Given the description of an element on the screen output the (x, y) to click on. 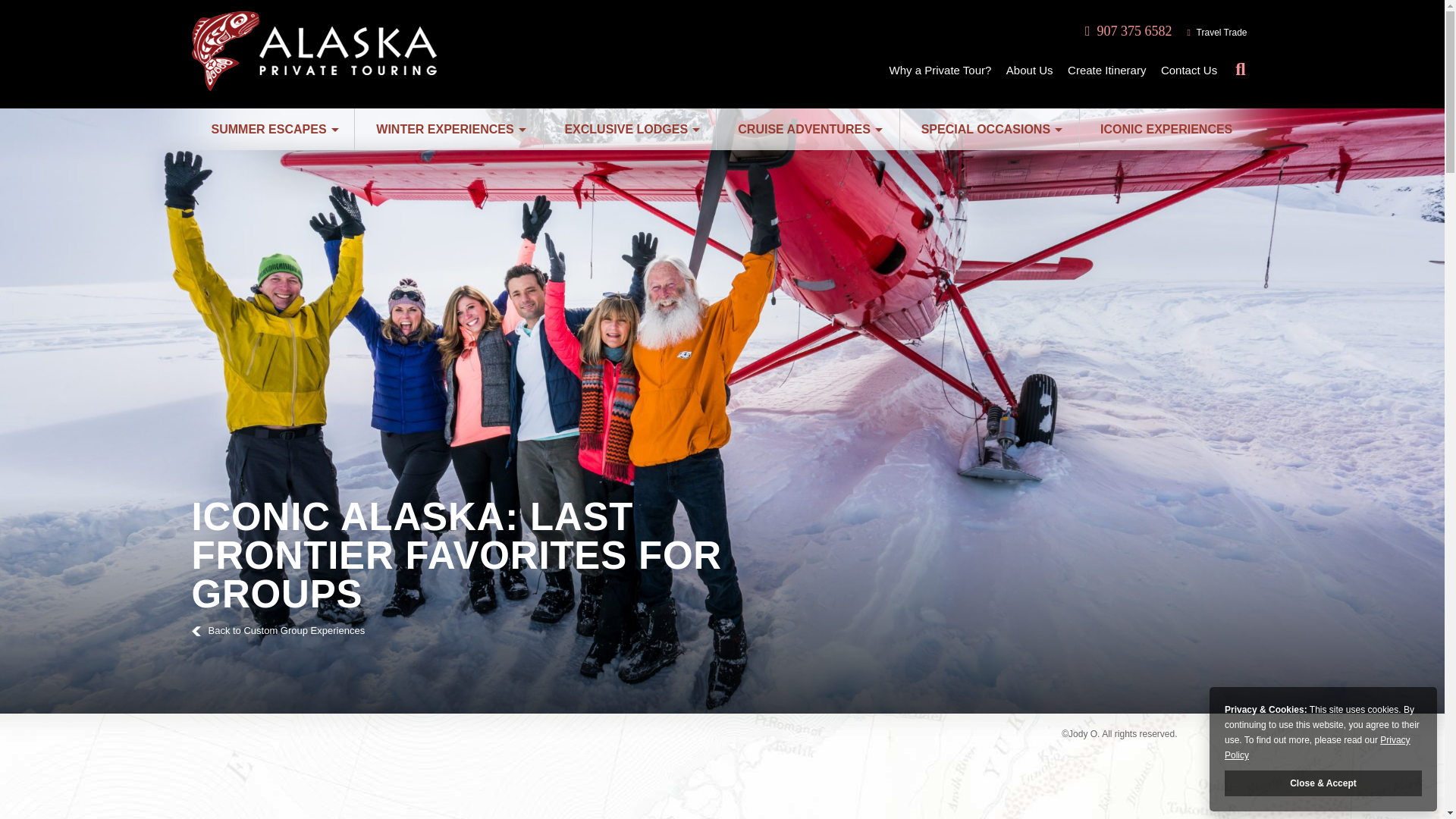
SUMMER ESCAPES (271, 128)
Travel Trade (1221, 32)
WINTER EXPERIENCES (449, 128)
Create Itinerary (1106, 69)
About Us (1029, 69)
Contact Us (1188, 69)
Why a Private Tour? (940, 69)
